Given the description of an element on the screen output the (x, y) to click on. 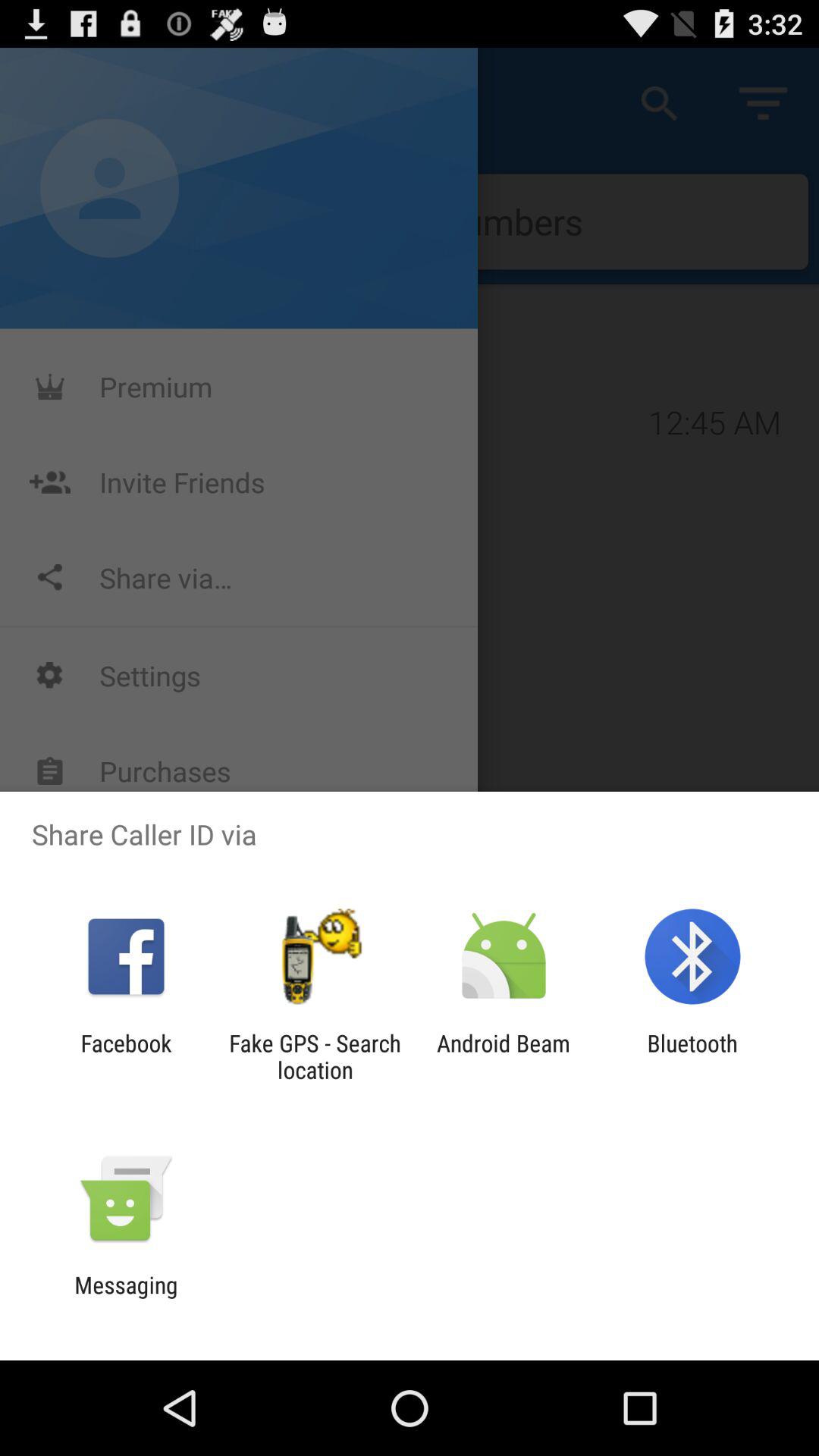
click the item next to fake gps search (125, 1056)
